Given the description of an element on the screen output the (x, y) to click on. 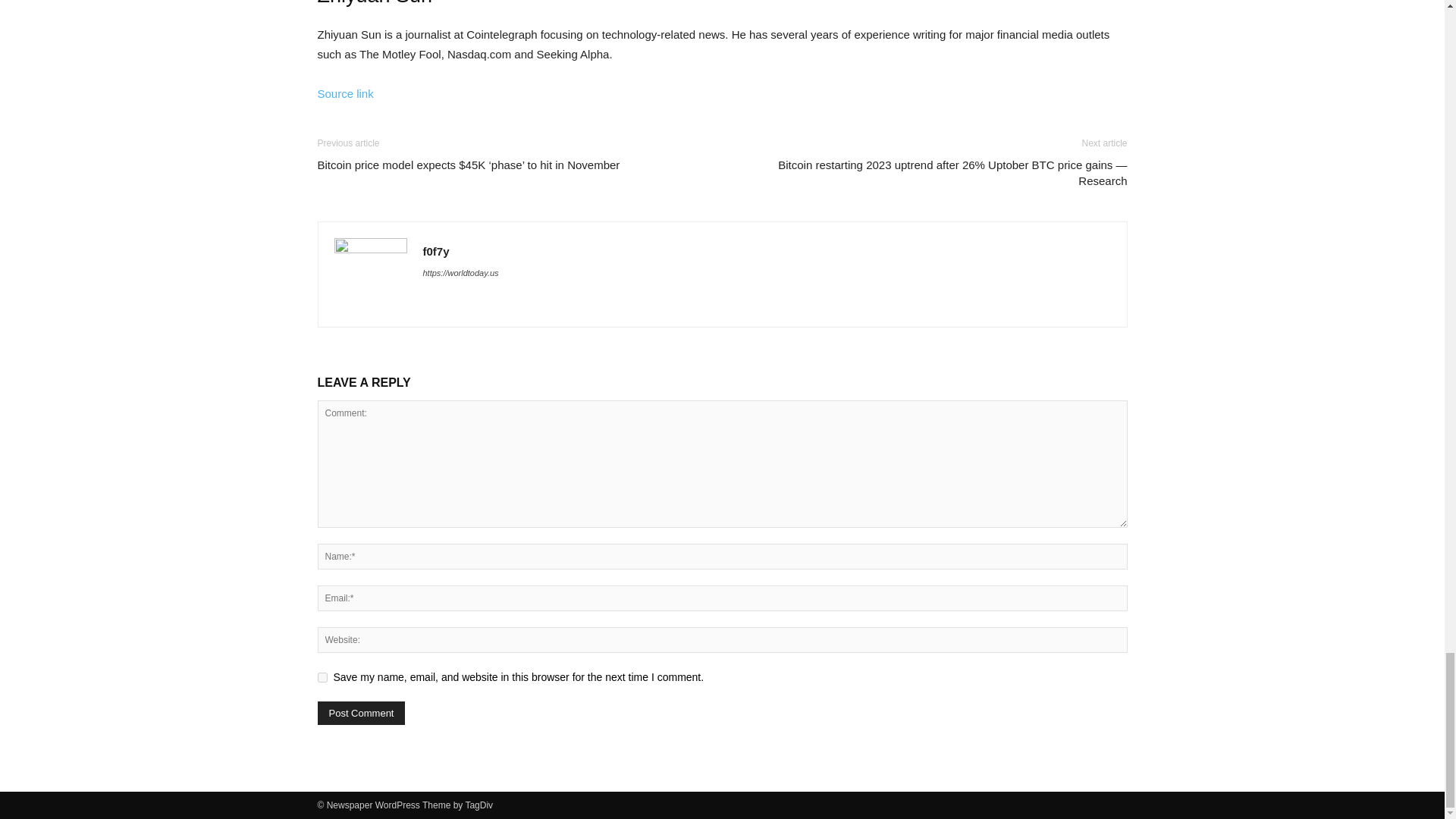
f0f7y (436, 250)
yes (321, 677)
Source link (344, 92)
Post Comment (360, 712)
Post Comment (360, 712)
